Given the description of an element on the screen output the (x, y) to click on. 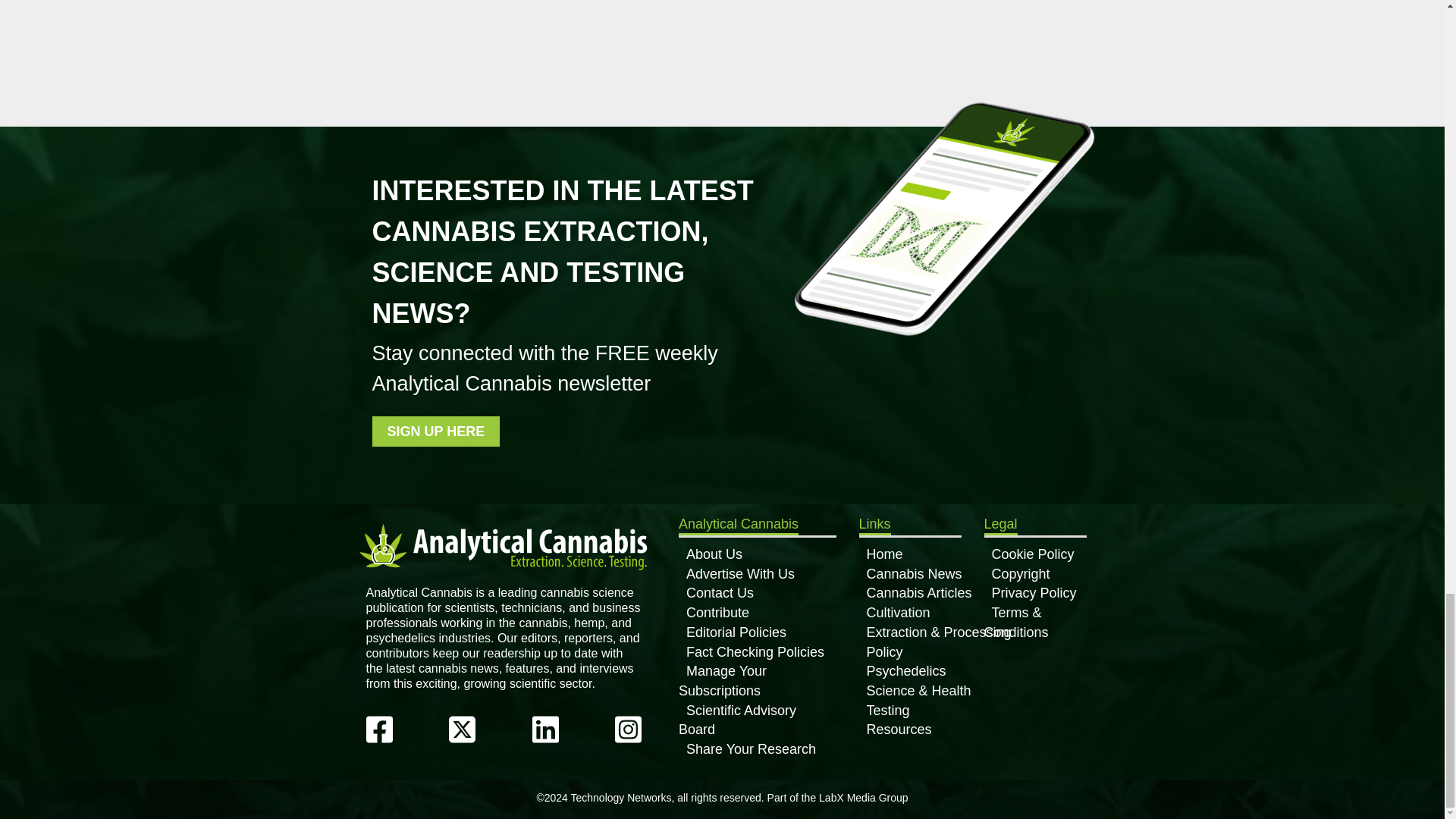
3rd party ad content (597, 21)
